Given the description of an element on the screen output the (x, y) to click on. 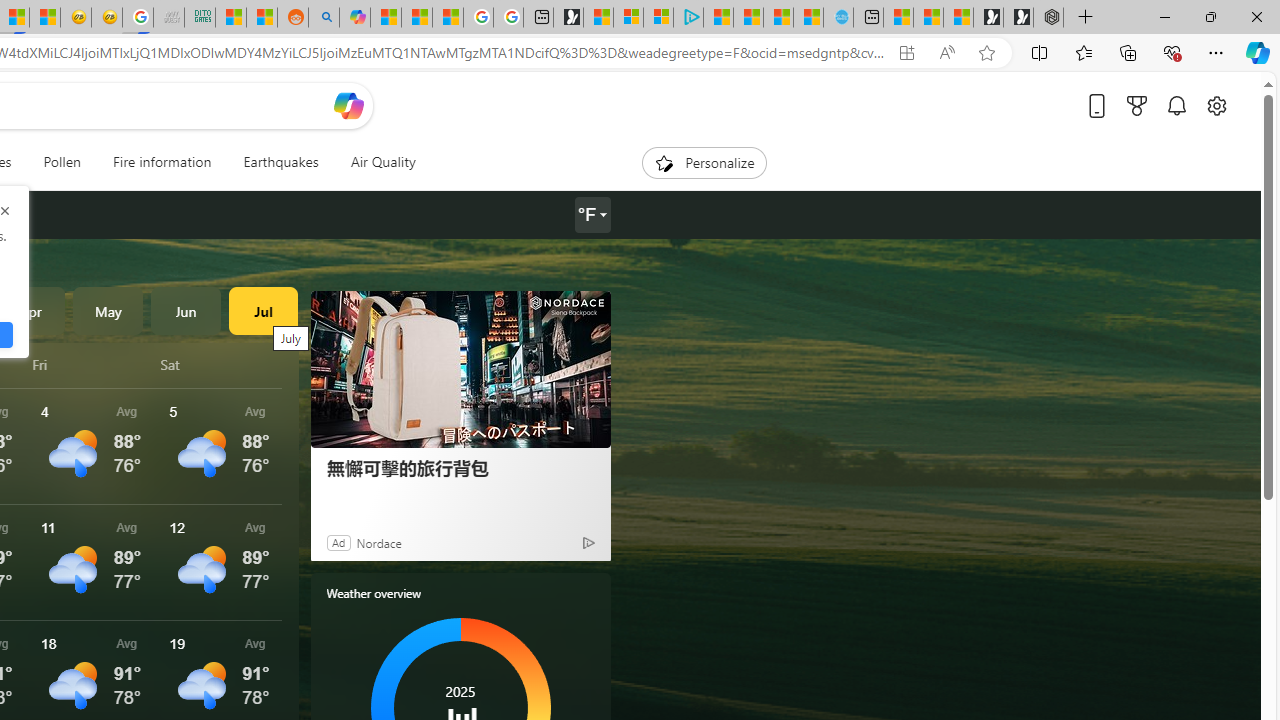
Pollen (61, 162)
Weather settings (591, 215)
Notifications (1176, 105)
Fire information (162, 162)
Ad Choice (588, 542)
Nordace - Nordace Siena Is Not An Ordinary Backpack (1048, 17)
MSNBC - MSN (230, 17)
Jun (186, 310)
